Given the description of an element on the screen output the (x, y) to click on. 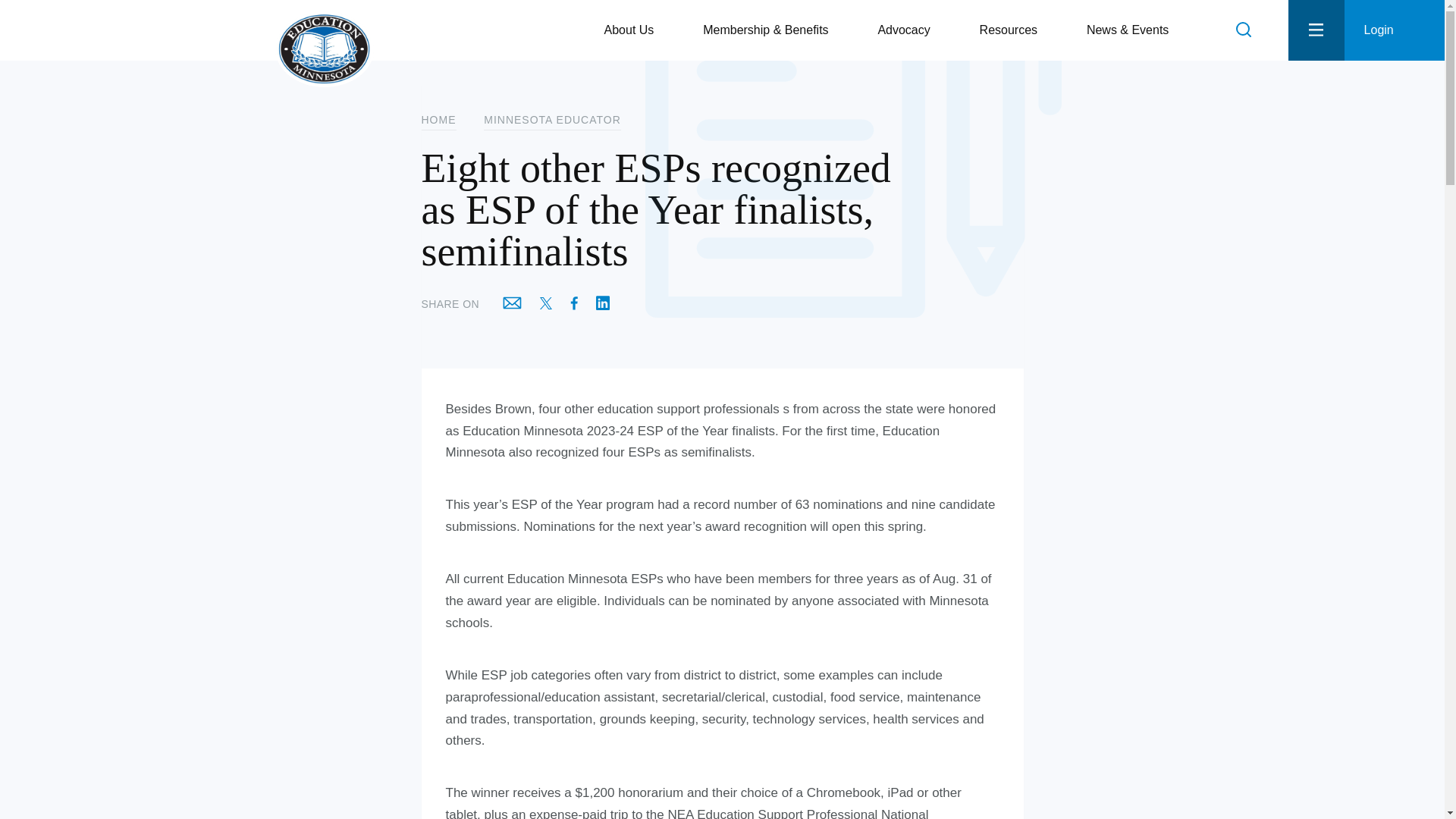
LinkedIn (602, 303)
Facebook (573, 304)
X (545, 304)
About Us (634, 30)
Advocacy (909, 30)
Email (512, 304)
